Given the description of an element on the screen output the (x, y) to click on. 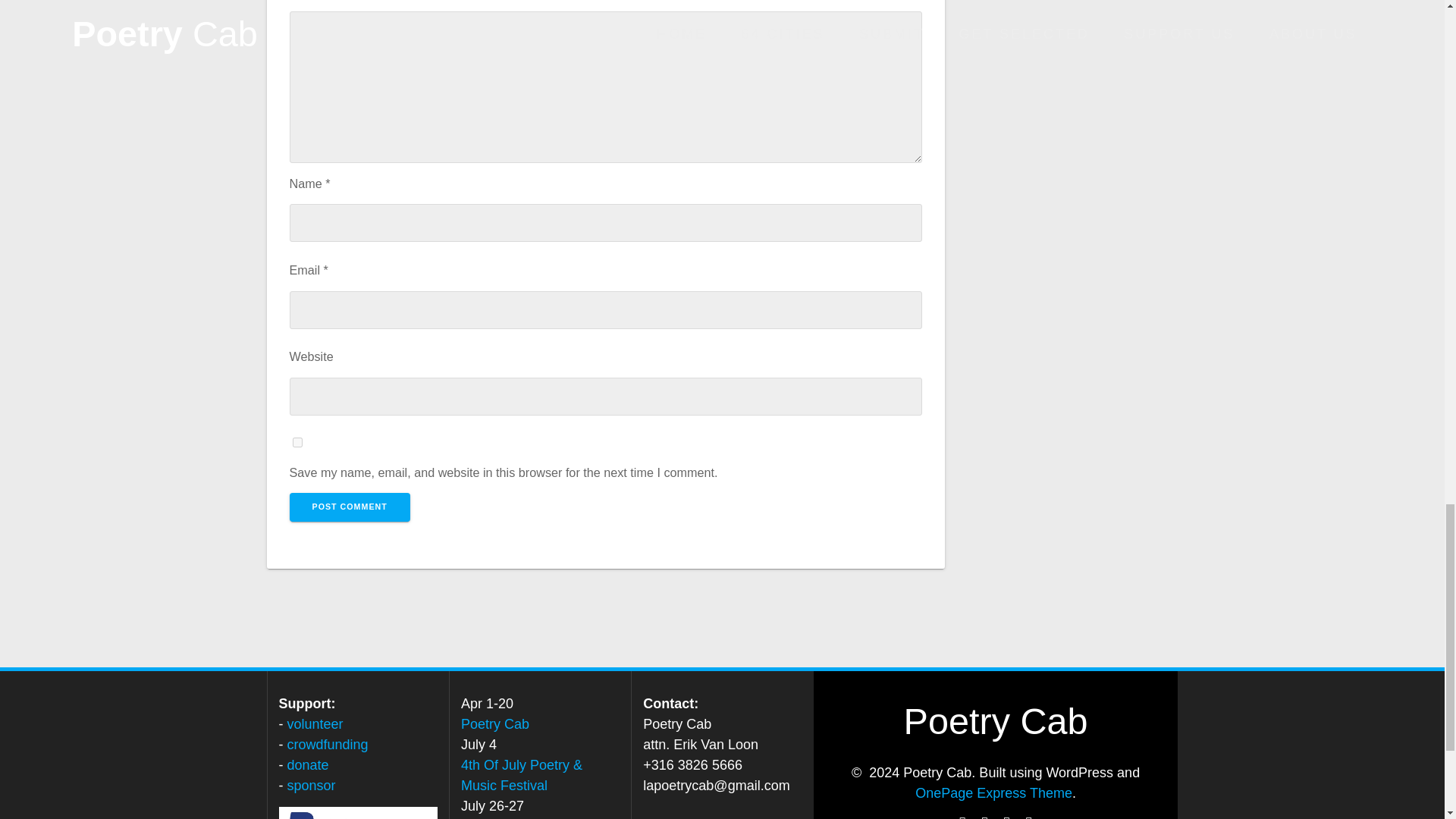
Post Comment (349, 507)
yes (297, 442)
sponsor (311, 785)
Post Comment (349, 507)
OnePage Express Theme (993, 792)
donate (307, 765)
Poetry Cab (495, 724)
volunteer (314, 724)
crowdfunding (327, 744)
